Given the description of an element on the screen output the (x, y) to click on. 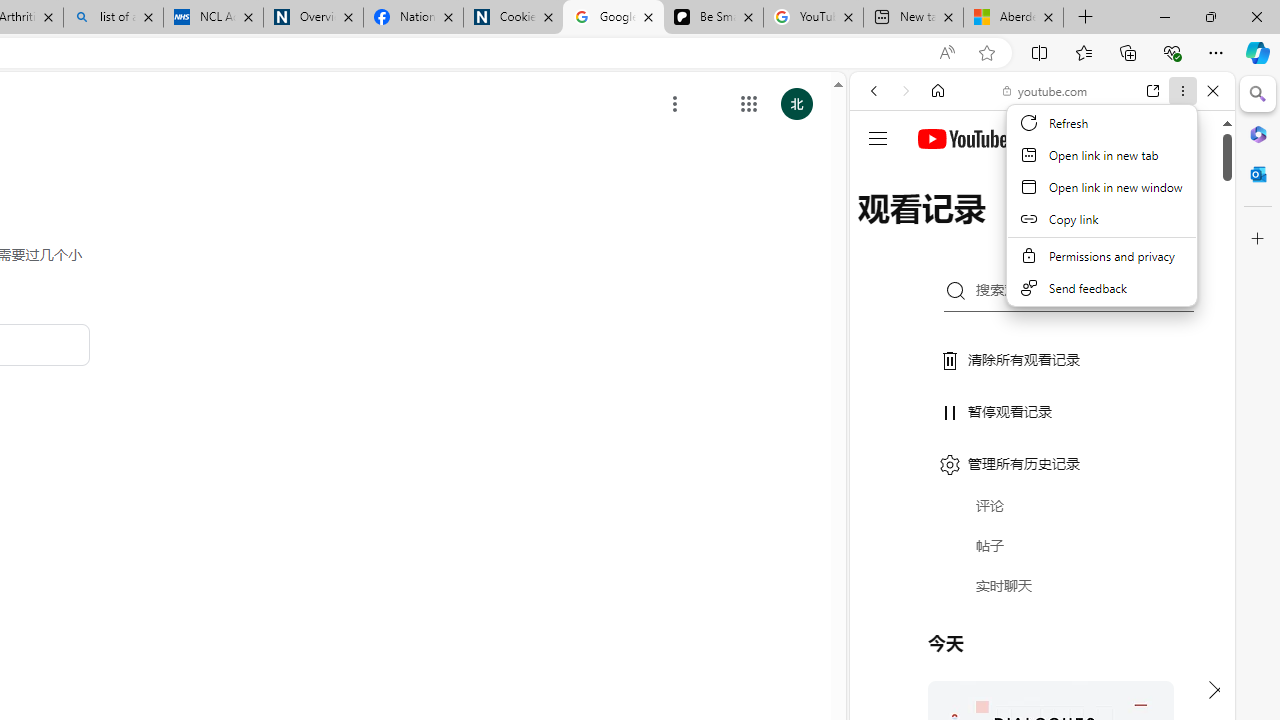
Context (1101, 217)
#you (1042, 445)
Search Filter, WEB (882, 228)
Open link in new window (1101, 187)
Forward (906, 91)
SEARCH TOOLS (1093, 228)
Music (1042, 543)
YouTube (1034, 296)
